Given the description of an element on the screen output the (x, y) to click on. 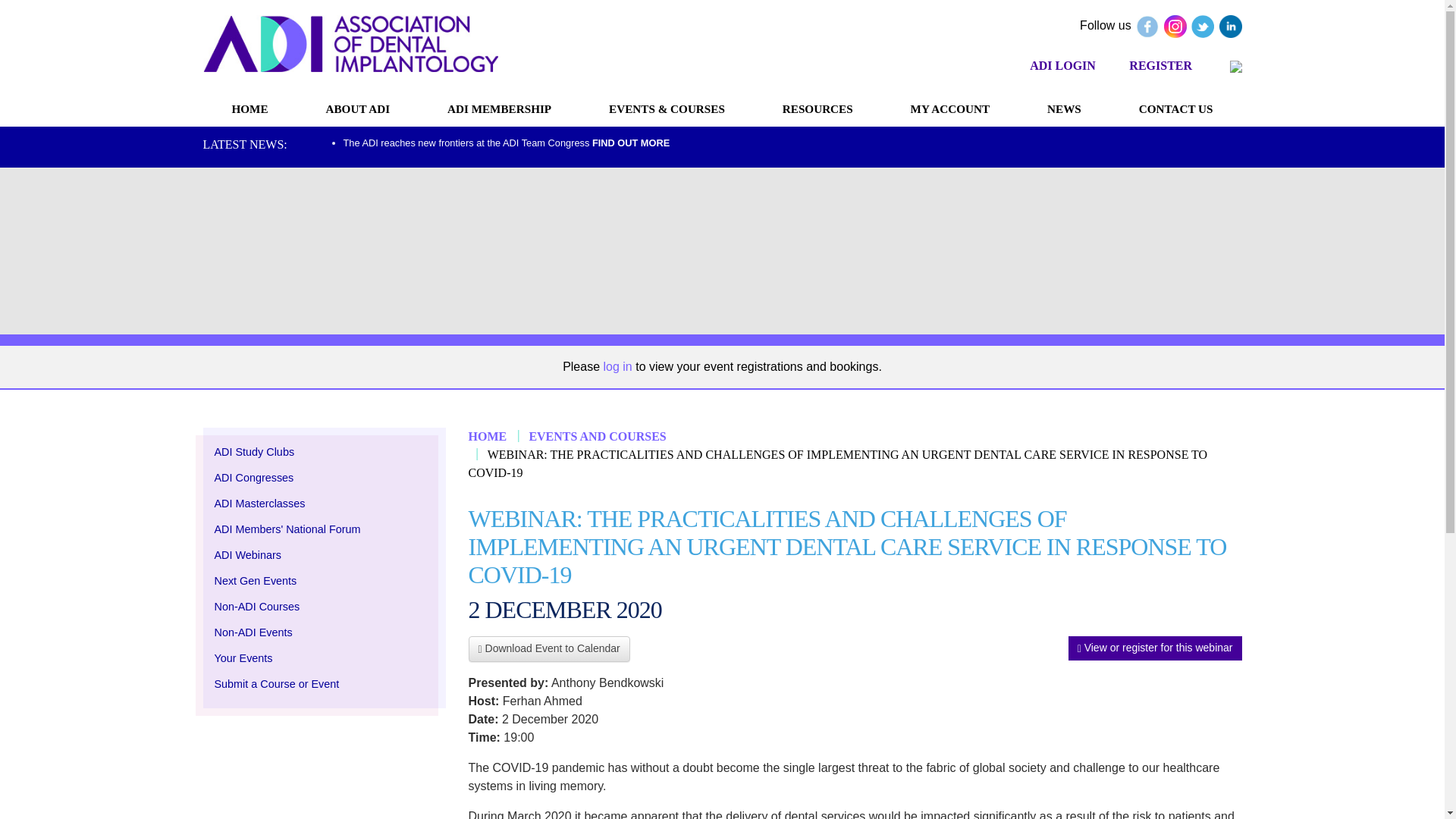
HOME (250, 108)
ADI MEMBERSHIP (499, 108)
View or register for this webinar (1154, 648)
ABOUT ADI (358, 108)
Instagram (1174, 26)
ADI LOGIN (1062, 65)
Twitter (1202, 26)
REGISTER (1160, 65)
Facebook (1146, 26)
Skip to main content (21, 21)
LinkedIn (1230, 26)
